Given the description of an element on the screen output the (x, y) to click on. 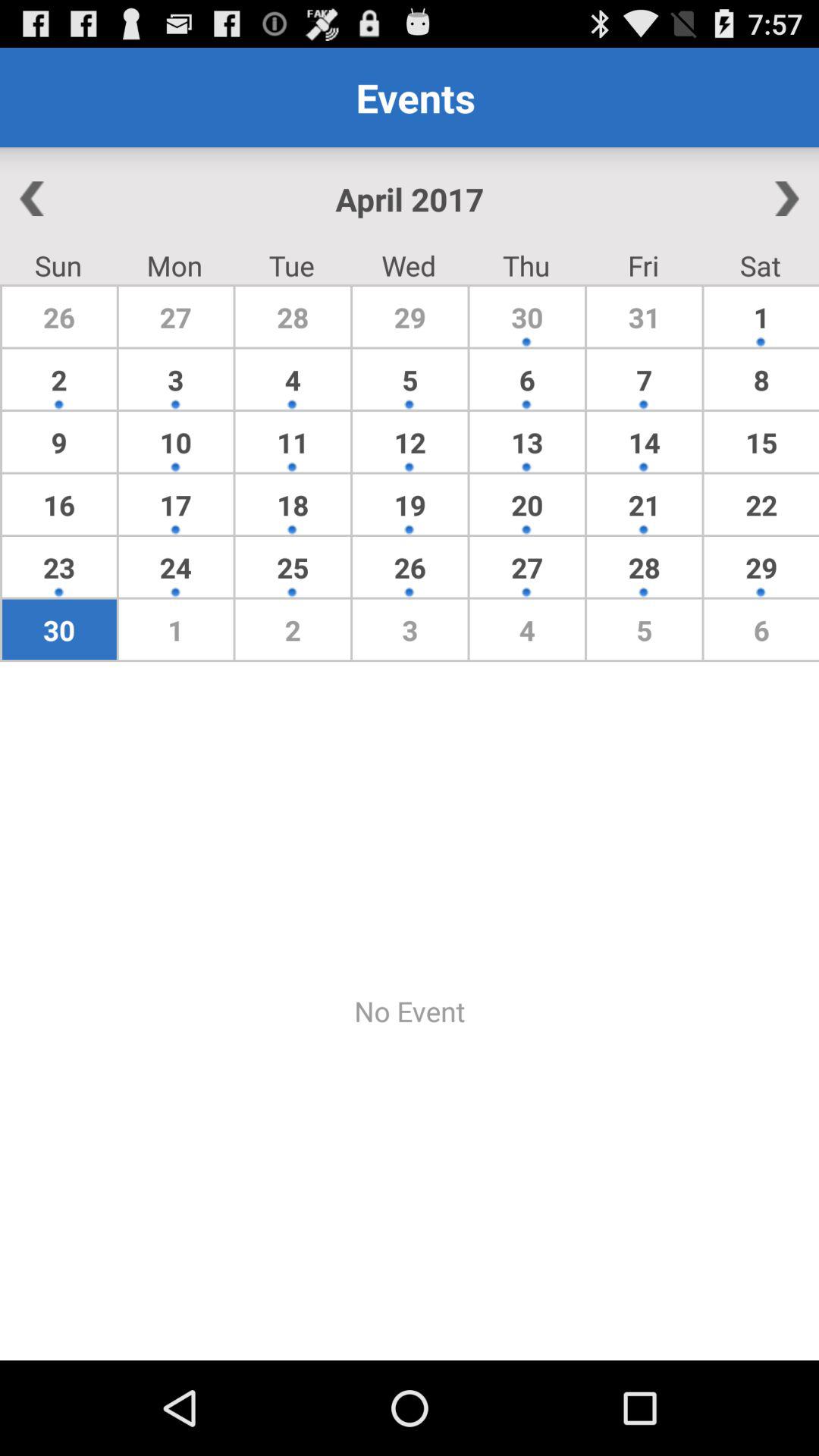
scroll to 10 item (175, 441)
